Given the description of an element on the screen output the (x, y) to click on. 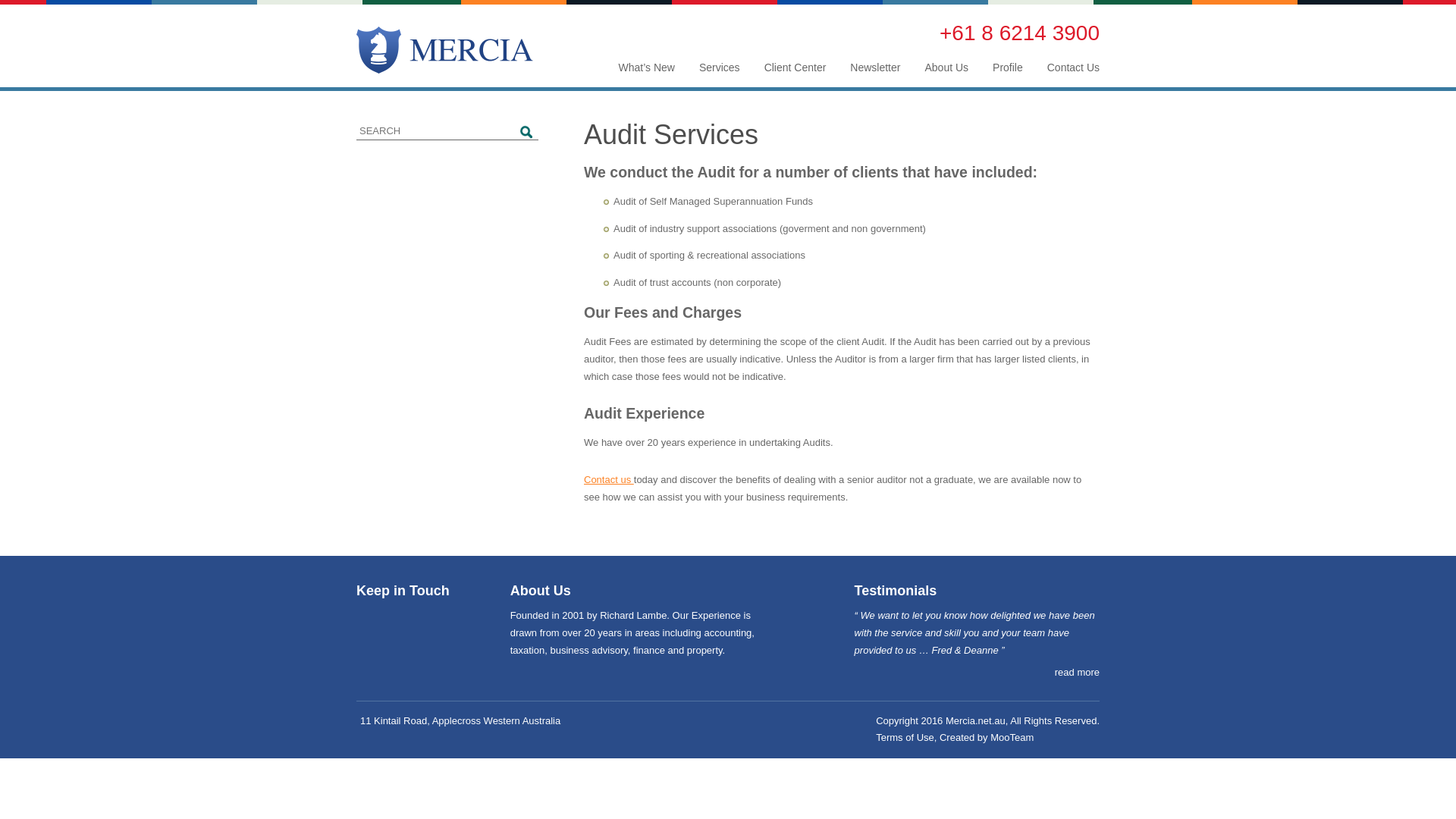
Profile Element type: text (1007, 67)
Audit Services Element type: text (670, 134)
read more Element type: text (1076, 672)
Mercia | Taxation, Business & Finance Advisers Element type: text (444, 49)
Mercia.net.au Element type: text (975, 720)
Contact us Element type: text (608, 479)
Search Element type: text (526, 132)
Terms of Use Element type: text (904, 737)
Contact Us Element type: text (1073, 67)
Client Center Element type: text (795, 67)
Services Element type: text (719, 67)
MooTeam Element type: text (1011, 737)
Newsletter Element type: text (875, 67)
About Us Element type: text (946, 67)
